Given the description of an element on the screen output the (x, y) to click on. 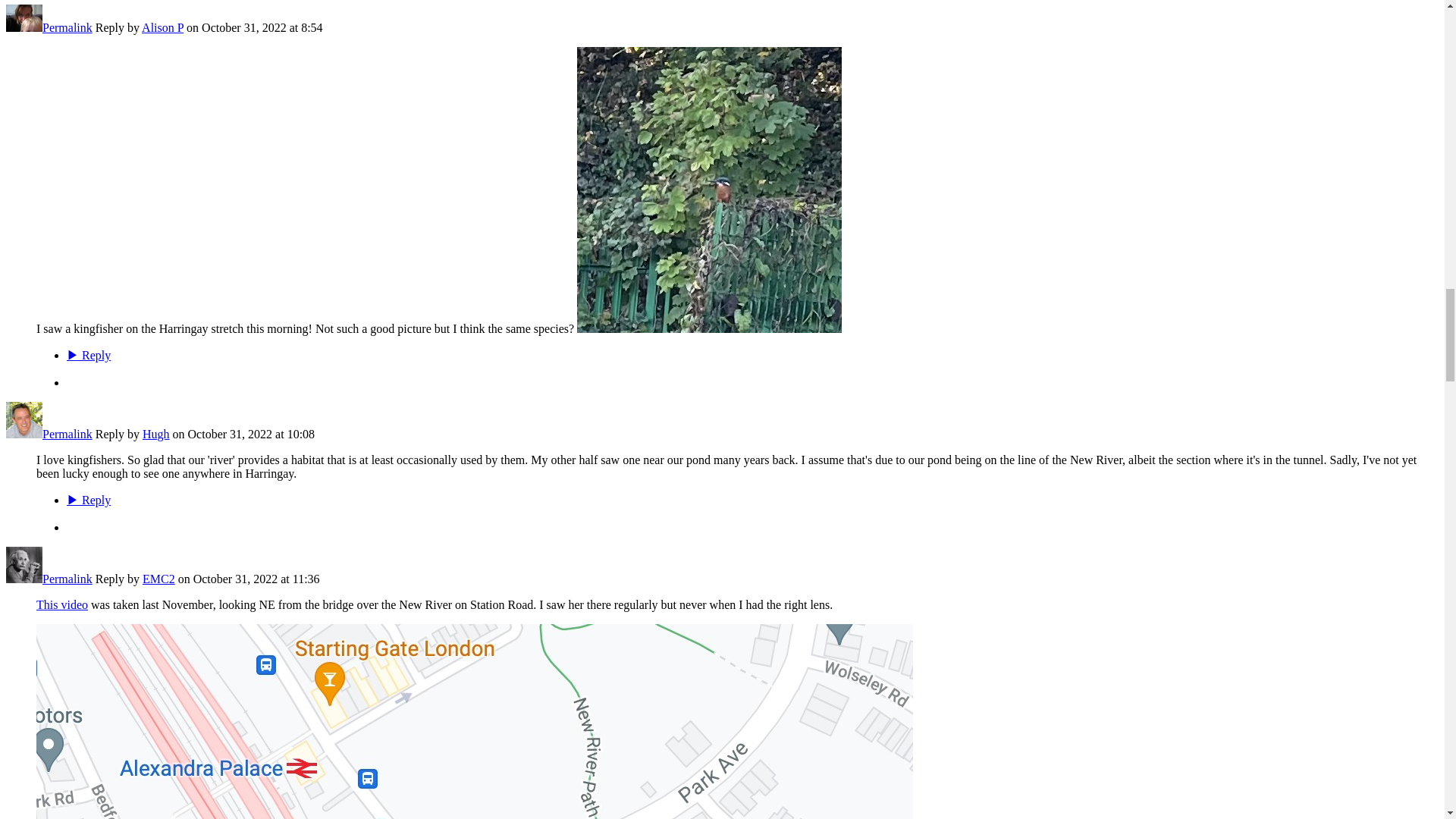
EMC2 (23, 578)
Permalink to this Reply (67, 578)
Alison P (23, 27)
Hugh (23, 433)
Permalink to this Reply (67, 433)
Permalink to this Reply (67, 27)
